Given the description of an element on the screen output the (x, y) to click on. 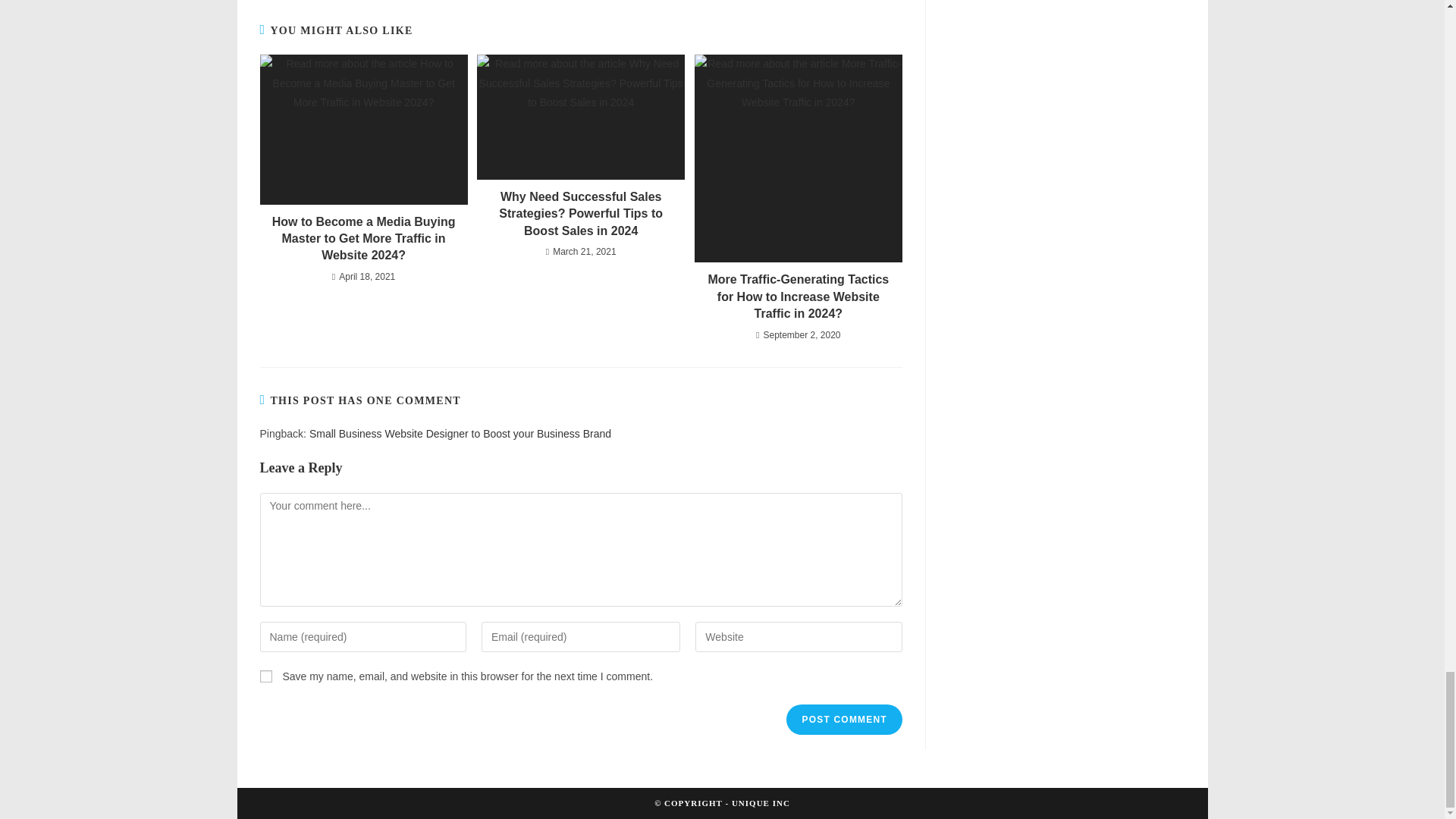
yes (264, 676)
Post Comment (843, 719)
